Given the description of an element on the screen output the (x, y) to click on. 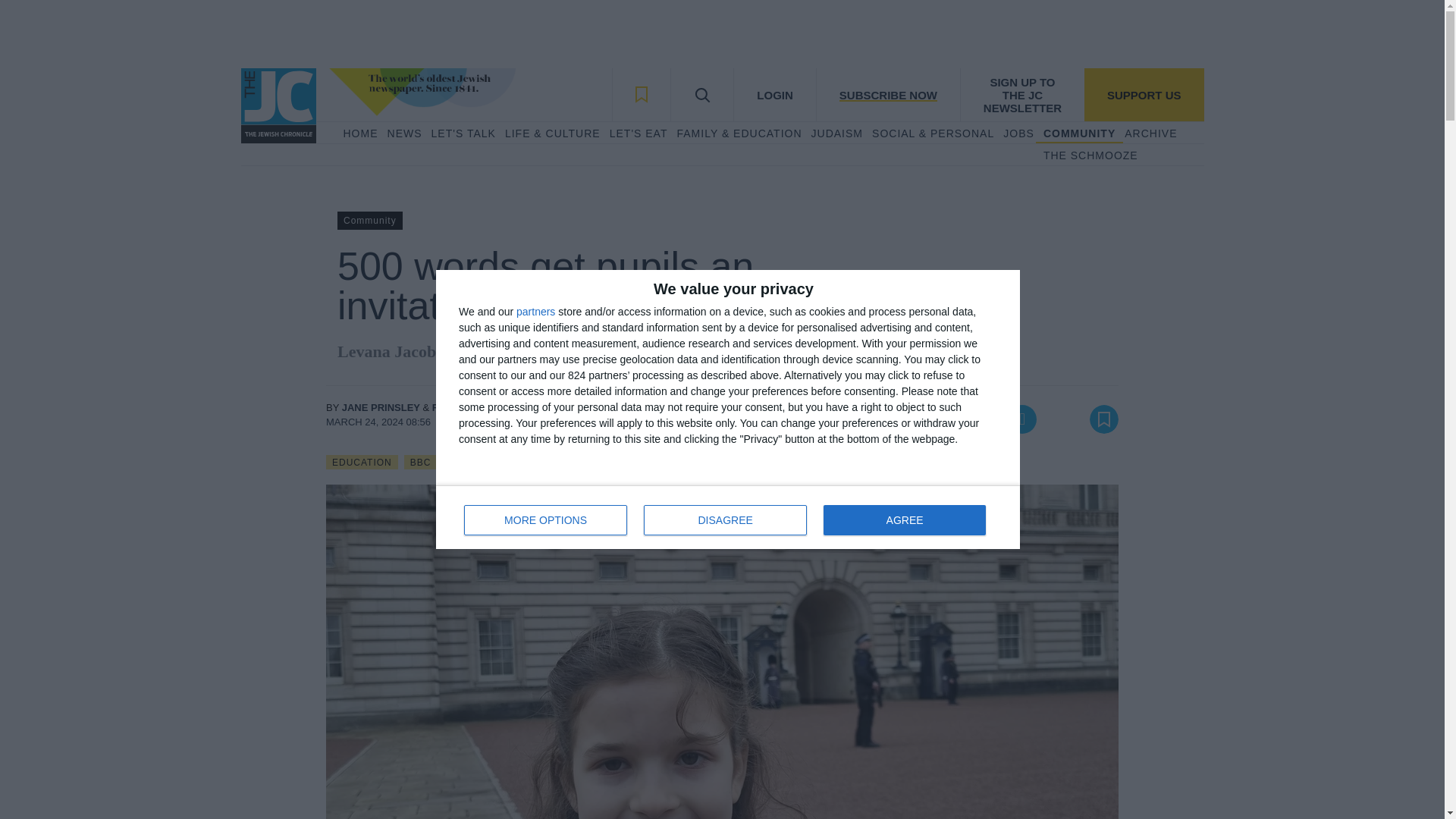
DISAGREE (727, 516)
LET'S TALK (724, 520)
SUBSCRIBE NOW (463, 133)
JOBS (887, 94)
LET'S EAT (1018, 133)
HOME (639, 133)
THE SCHMOOZE (359, 133)
SUPPORT US (1090, 155)
JUDAISM (1144, 94)
LOGIN (836, 133)
SIGN UP TO THE JC NEWSLETTER (774, 94)
partners (1021, 94)
COMMUNITY (535, 311)
MORE OPTIONS (1079, 133)
